Given the description of an element on the screen output the (x, y) to click on. 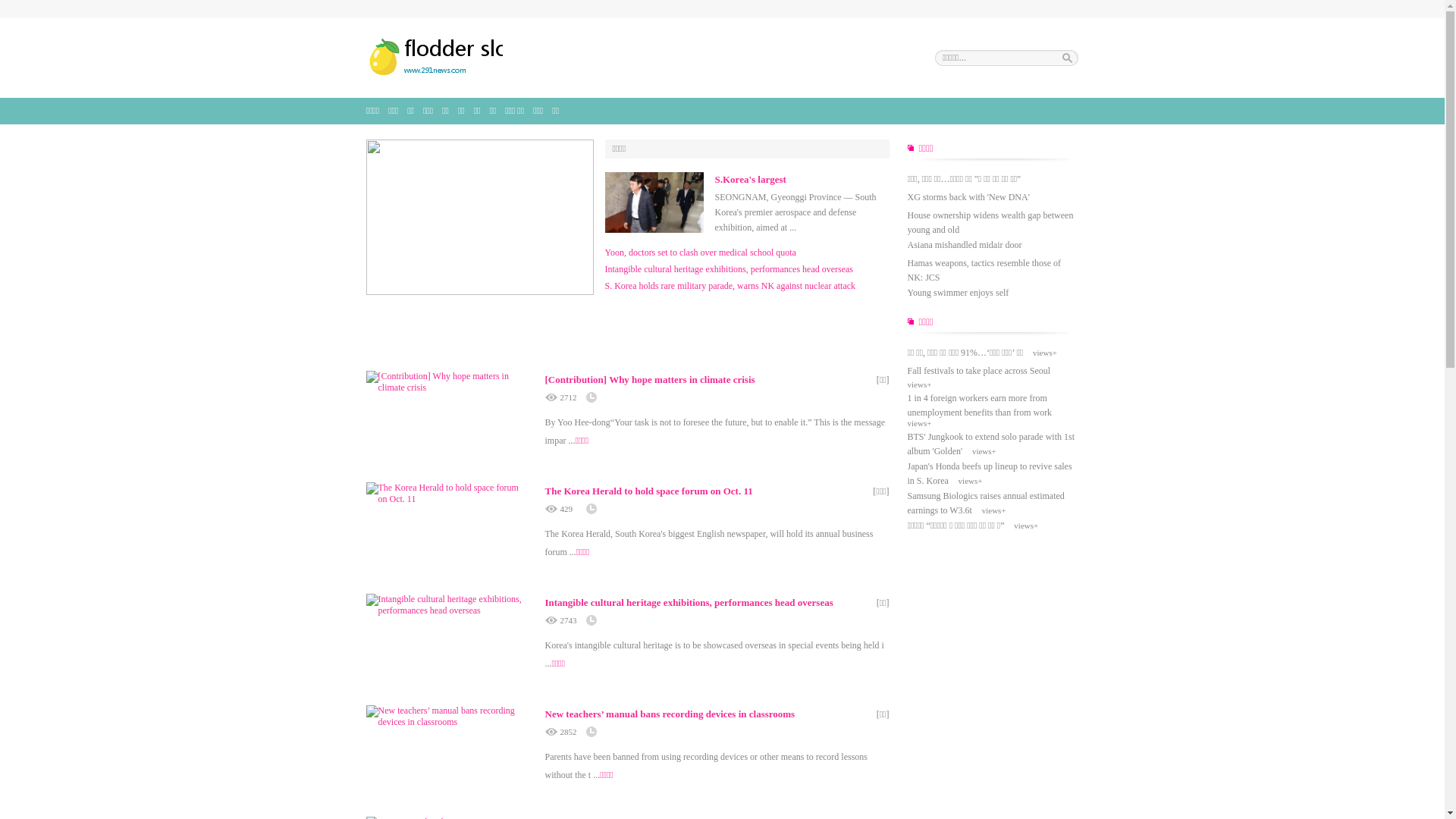
Fall festivals to take place across Seoul Element type: text (978, 370)
Yoon, doctors set to clash over medical school quota Element type: text (700, 252)
Young swimmer enjoys self Element type: text (957, 292)
House ownership widens wealth gap between young and old Element type: text (989, 222)
BTS' Jungkook to extend solo parade with 1st album 'Golden' Element type: text (989, 443)
The Korea Herald to hold space forum on Oct. 11 Element type: text (648, 490)
S.Korea's largest Element type: text (749, 179)
Japan's Honda beefs up lineup to revive sales in S. Korea Element type: text (988, 473)
XG storms back with 'New DNA' Element type: text (967, 196)
Samsung Biologics raises annual estimated earnings to W3.6t Element type: text (984, 502)
[Contribution] Why hope matters in climate crisis Element type: text (649, 379)
Hamas weapons, tactics resemble those of NK: JCS Element type: text (983, 269)
Asiana mishandled midair door Element type: text (963, 244)
